Given the description of an element on the screen output the (x, y) to click on. 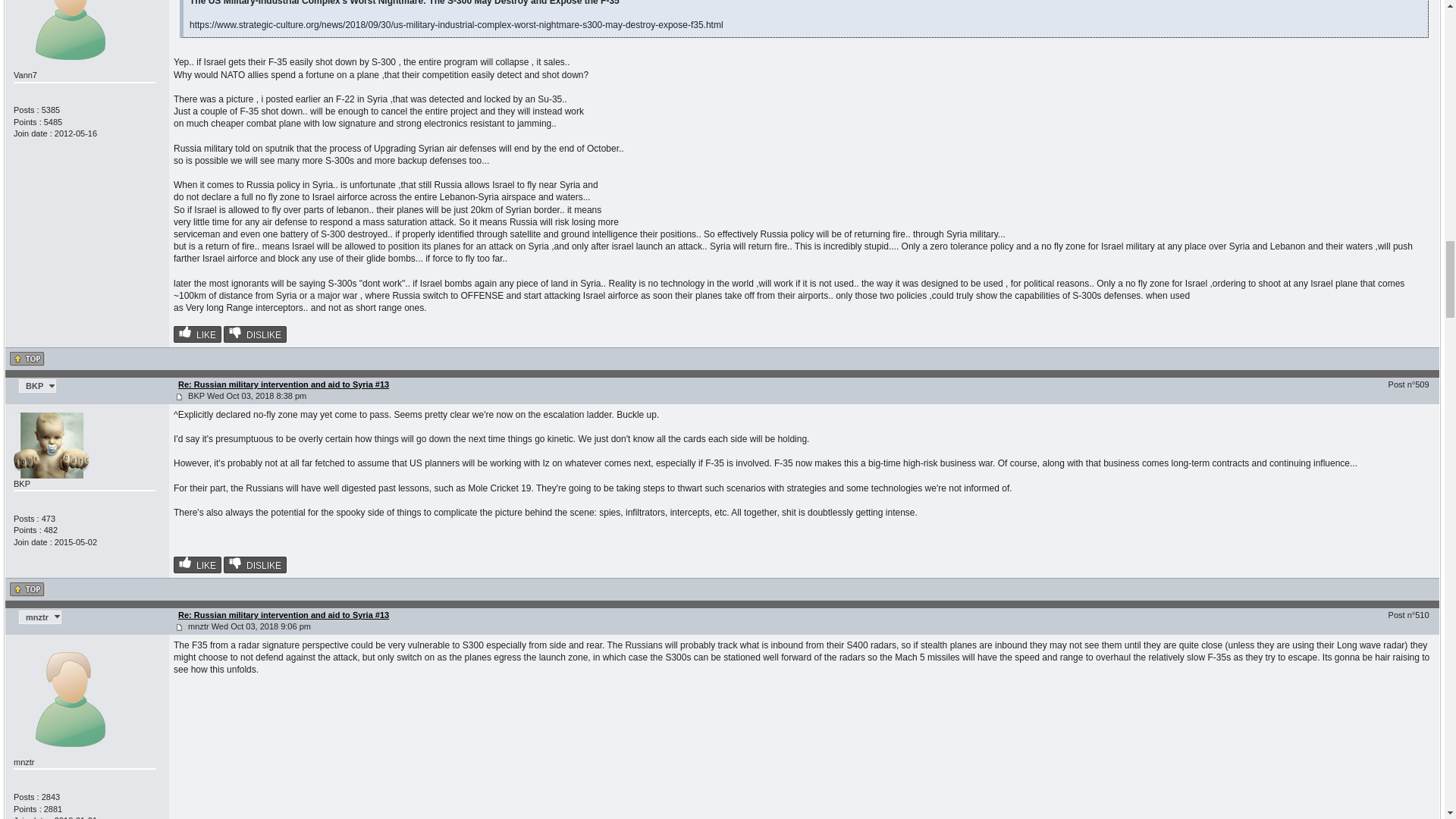
Post (178, 396)
